Given the description of an element on the screen output the (x, y) to click on. 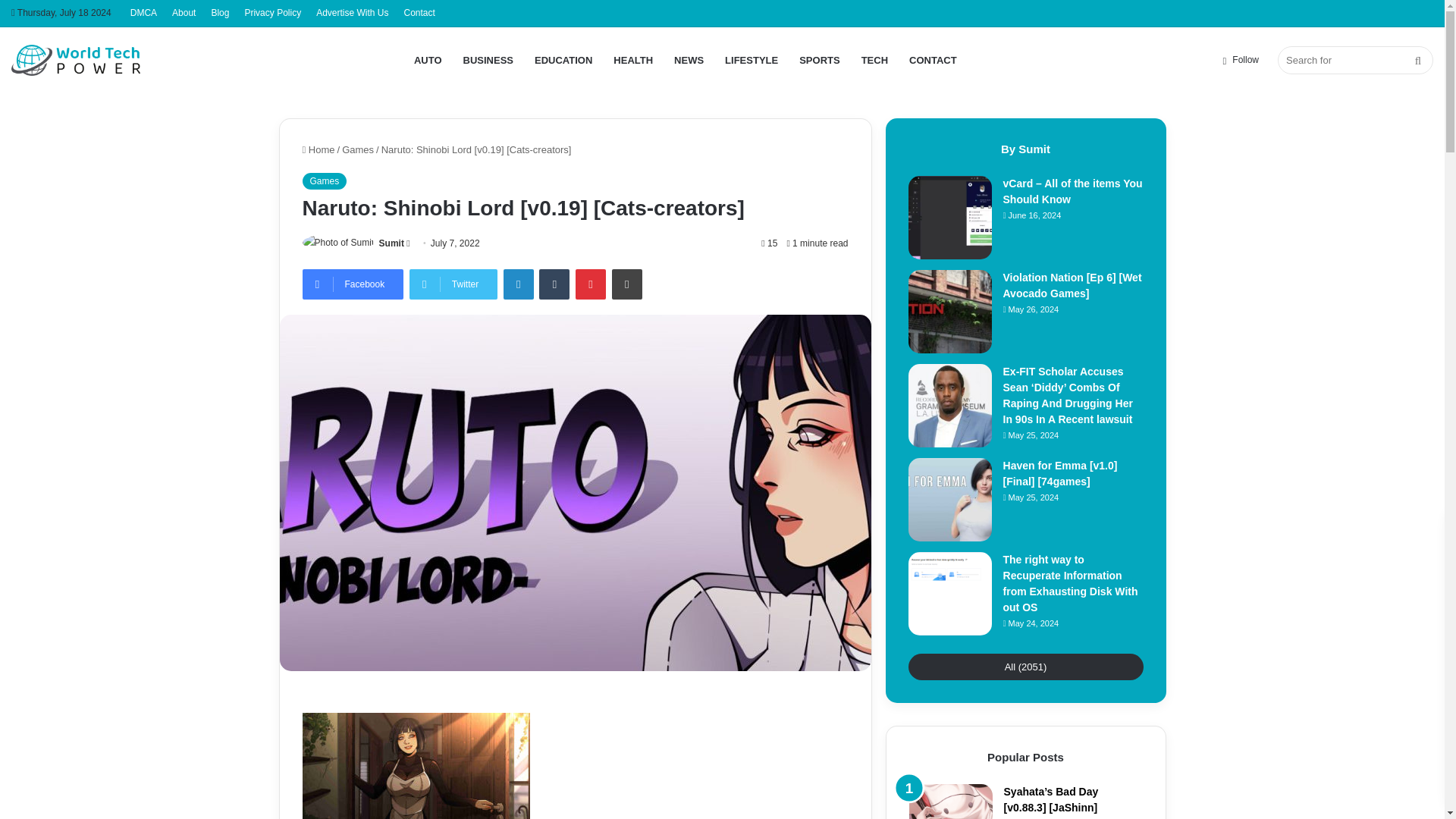
LinkedIn (518, 284)
Twitter (453, 284)
SPORTS (819, 60)
EDUCATION (563, 60)
Advertise With Us (352, 13)
Search for (1417, 60)
NEWS (688, 60)
Facebook (352, 284)
Sumit (391, 243)
Facebook (352, 284)
Games (358, 149)
BUSINESS (488, 60)
CONTACT (933, 60)
LinkedIn (518, 284)
